Given the description of an element on the screen output the (x, y) to click on. 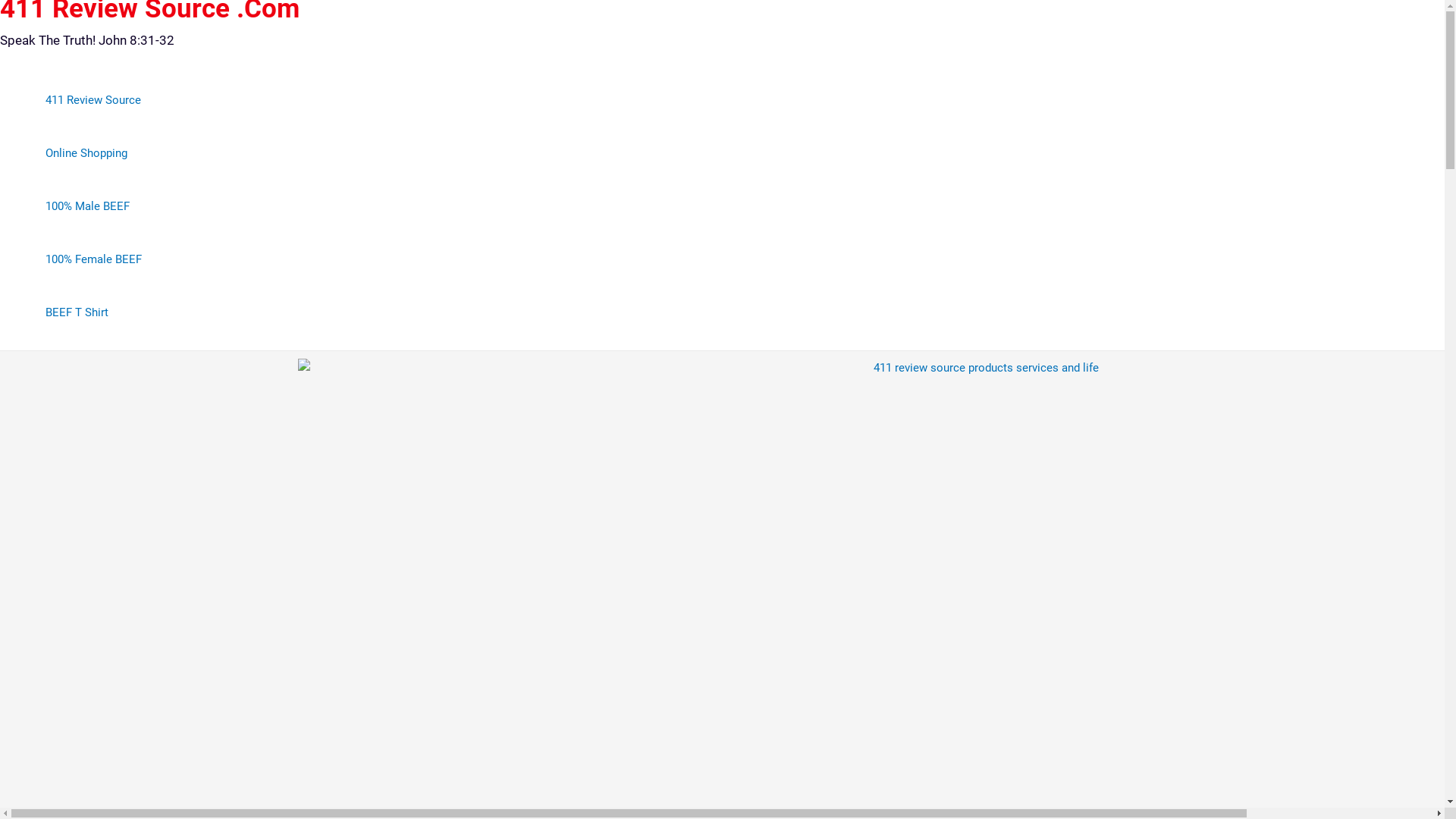
100% Male BEEF Element type: text (93, 205)
100% Female BEEF Element type: text (93, 258)
411 Review Source Element type: text (93, 99)
Online Shopping Element type: text (93, 152)
BEEF T Shirt Element type: text (93, 311)
